Given the description of an element on the screen output the (x, y) to click on. 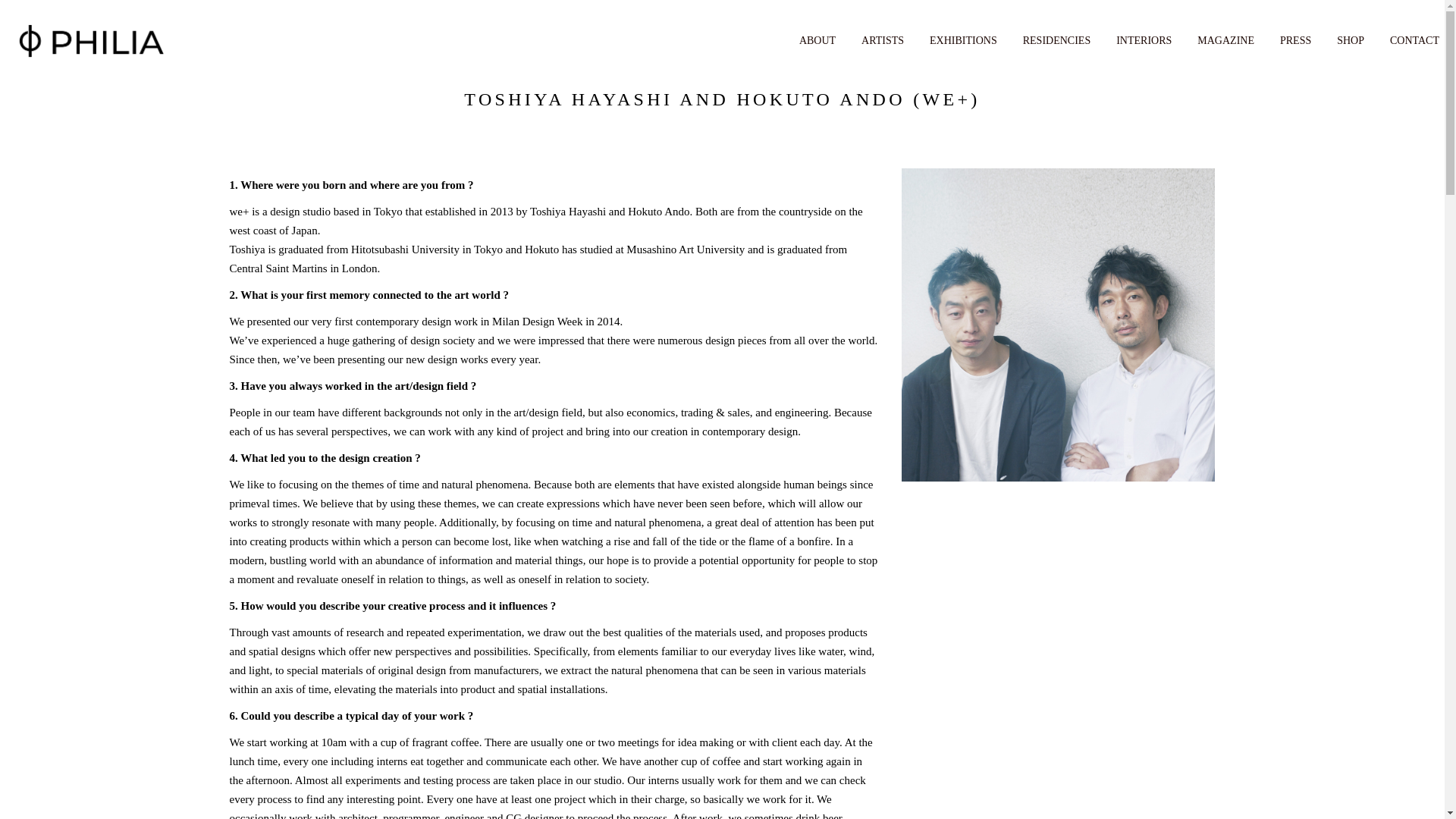
SHOP (1350, 39)
EXHIBITIONS (963, 39)
INTERIORS (1144, 39)
RESIDENCIES (1056, 39)
Toshiya Hayashi and Hokuto Ando (1057, 324)
PRESS (1294, 39)
MAGAZINE (1225, 39)
ABOUT (817, 39)
ARTISTS (882, 39)
